Given the description of an element on the screen output the (x, y) to click on. 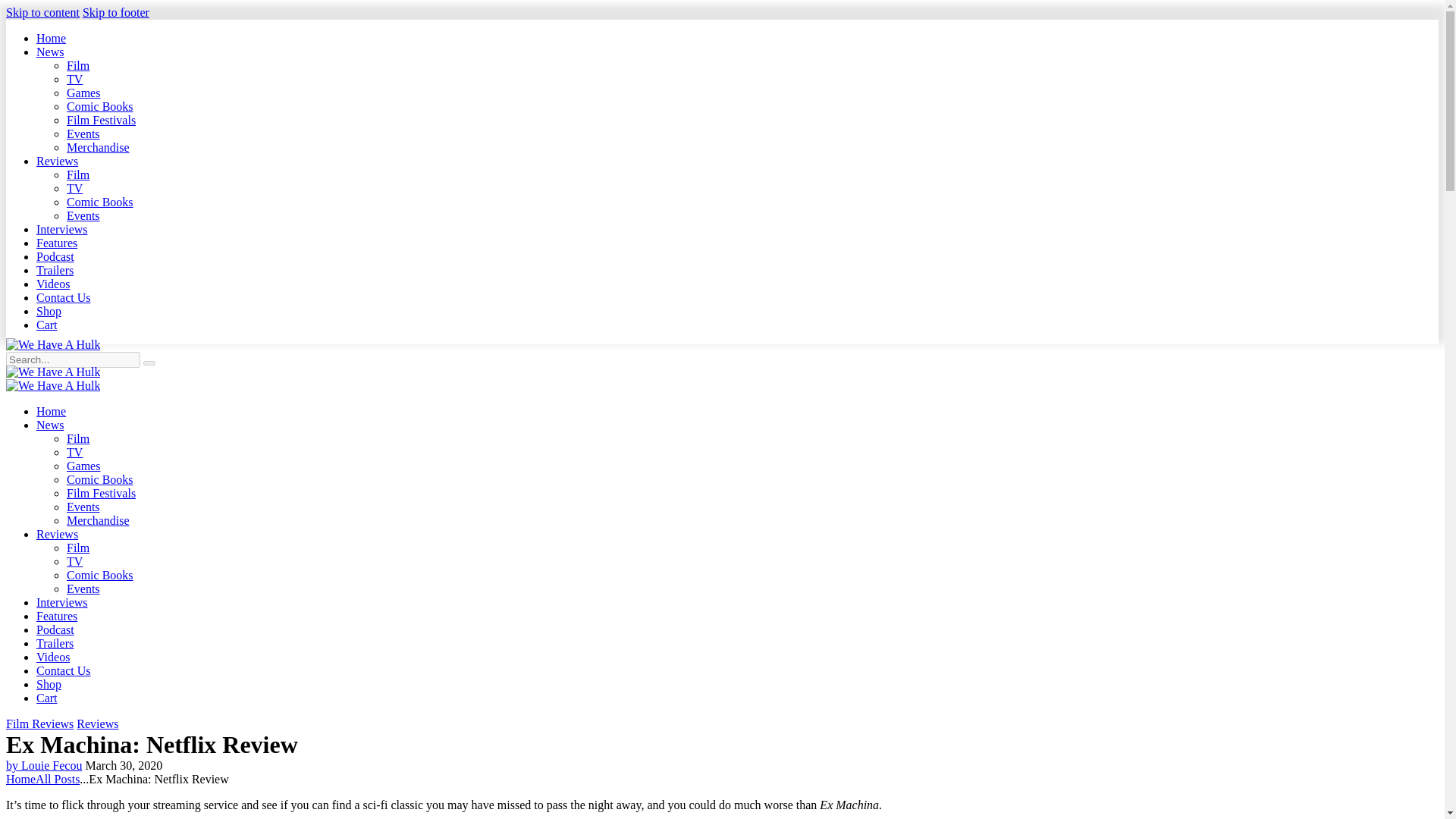
TV (74, 451)
Skip to content (42, 11)
Events (83, 133)
Film Festivals (100, 119)
Merchandise (97, 146)
Home (50, 410)
Contact Us (63, 297)
Features (56, 242)
Events (83, 215)
Shop (48, 310)
